Given the description of an element on the screen output the (x, y) to click on. 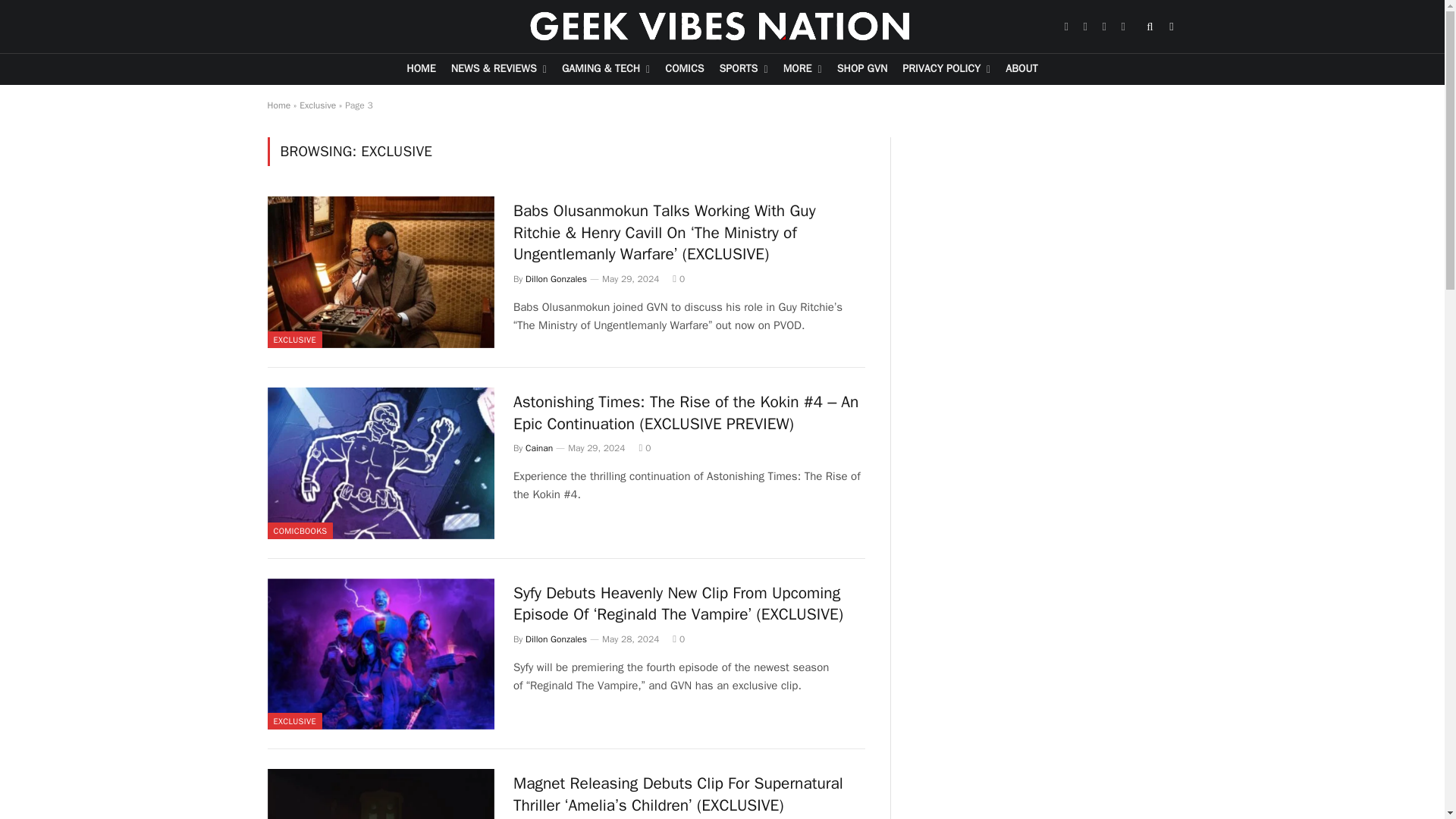
HOME (420, 69)
Posts by Dillon Gonzales (555, 639)
PRIVACY POLICY (946, 69)
SHOP GVN (862, 69)
Geek Vibes Nation (722, 26)
MORE (802, 69)
Switch to Dark Design - easier on eyes. (1170, 26)
SPORTS (743, 69)
Posts by Dillon Gonzales (555, 278)
Posts by Cainan (539, 448)
COMICS (684, 69)
